Given the description of an element on the screen output the (x, y) to click on. 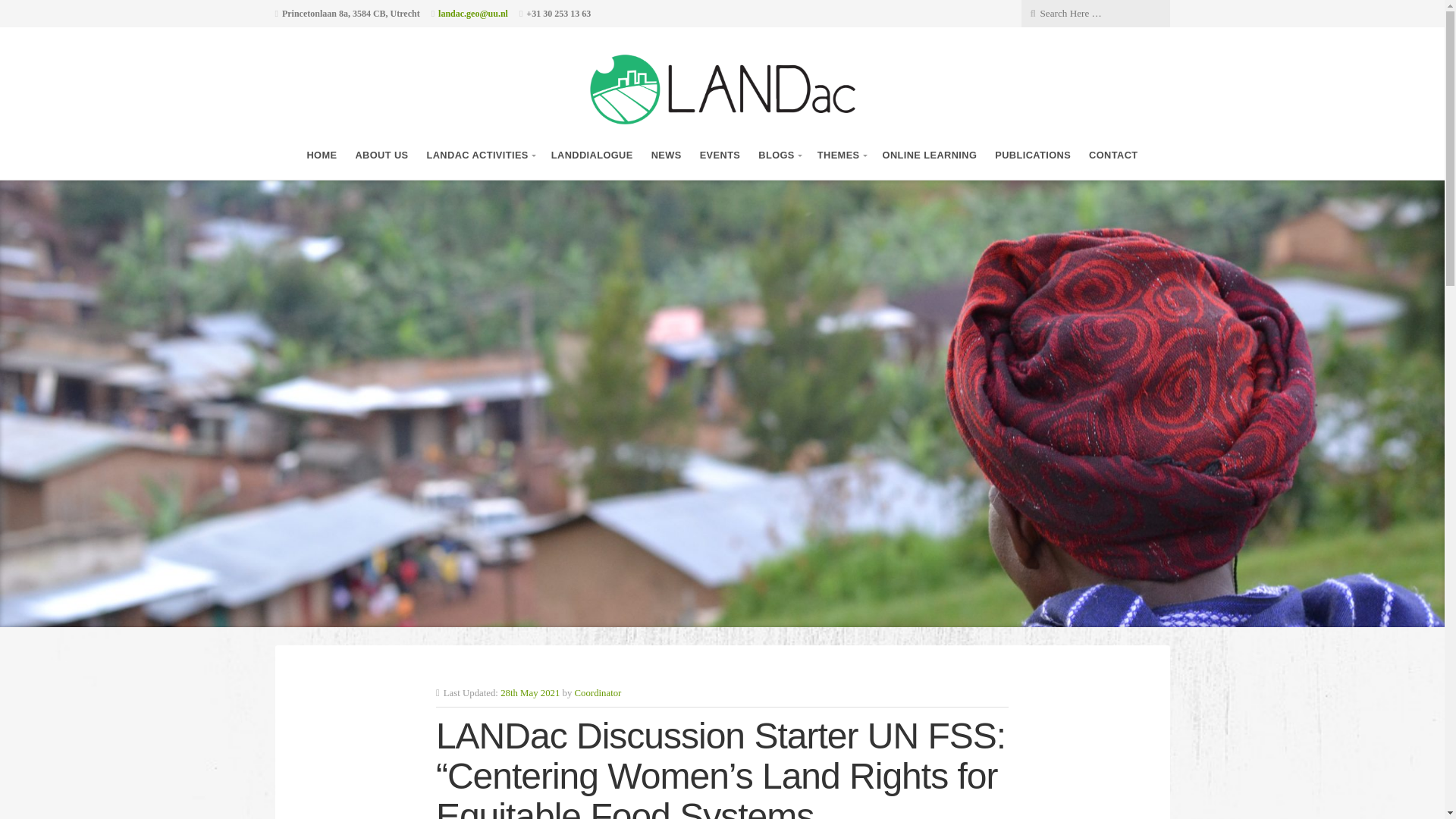
Go (116, 12)
ABOUT US (381, 155)
THEMES (840, 155)
EVENTS (720, 155)
View all posts by Coordinator (598, 692)
10:05 (529, 692)
NEWS (665, 155)
PUBLICATIONS (1032, 155)
HOME (320, 155)
BLOGS (778, 155)
LANDAC ACTIVITIES (479, 155)
ONLINE LEARNING (929, 155)
LANDDIALOGUE (592, 155)
